Given the description of an element on the screen output the (x, y) to click on. 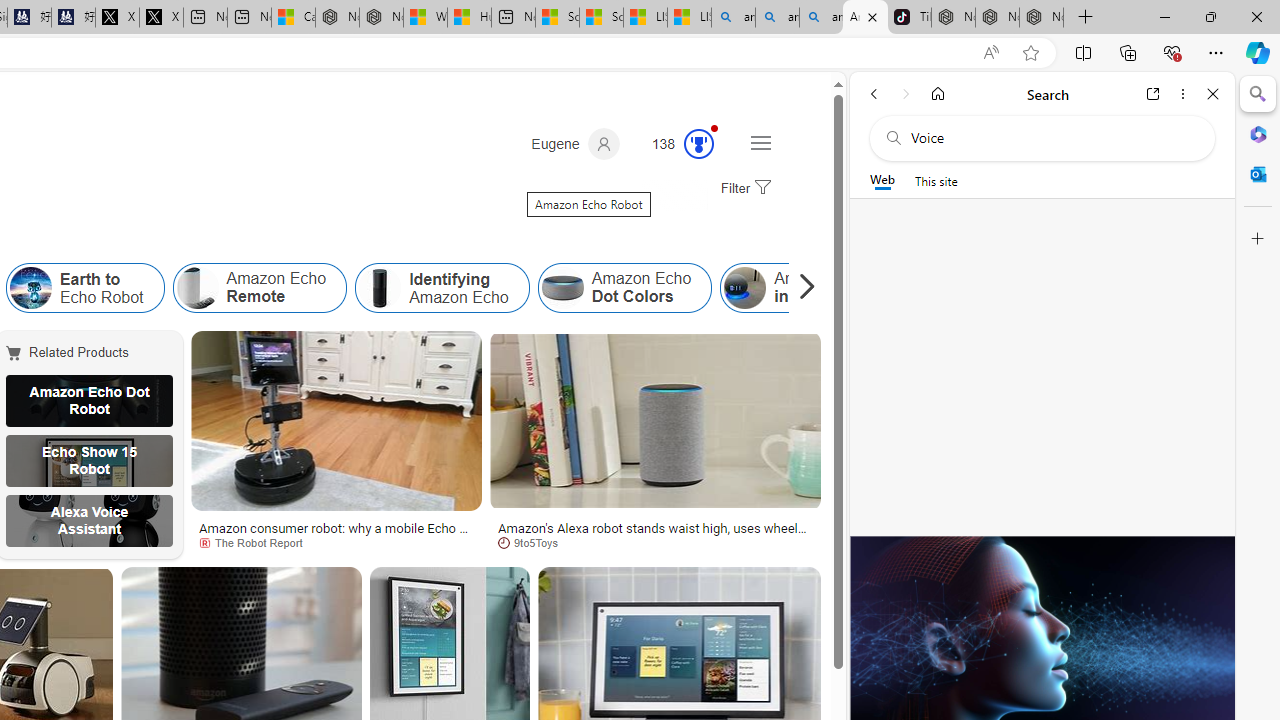
9to5Toys (535, 541)
Amazon Echo Dot Robot (89, 400)
Filter (743, 189)
Microsoft 365 (1258, 133)
Amazon Echo Dot Colors (562, 287)
Image result for Amazon Echo Robot (655, 421)
Microsoft Rewards 135 (675, 143)
Echo Show 15 Robot (89, 460)
